Given the description of an element on the screen output the (x, y) to click on. 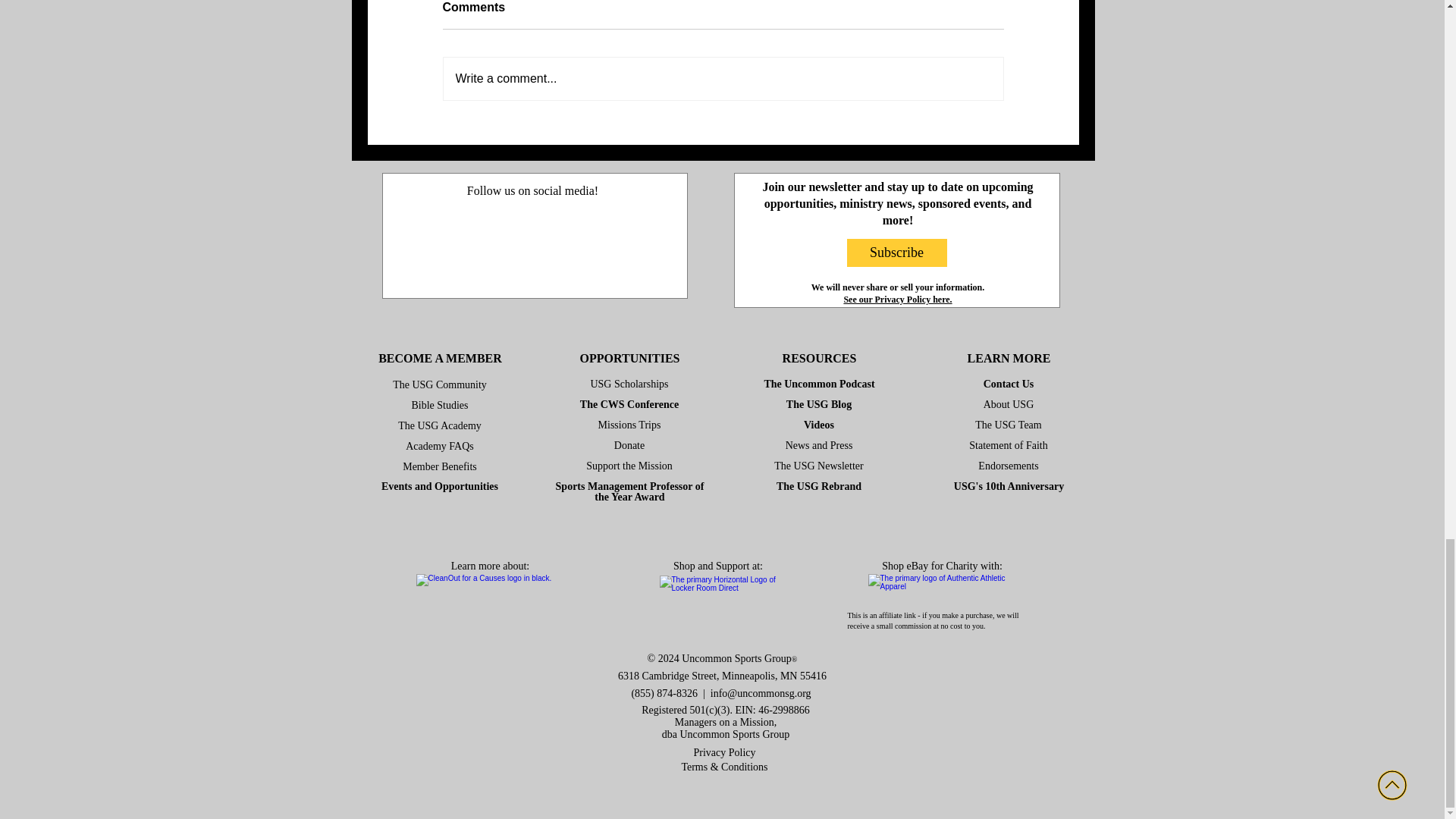
Write a comment... (722, 78)
